Given the description of an element on the screen output the (x, y) to click on. 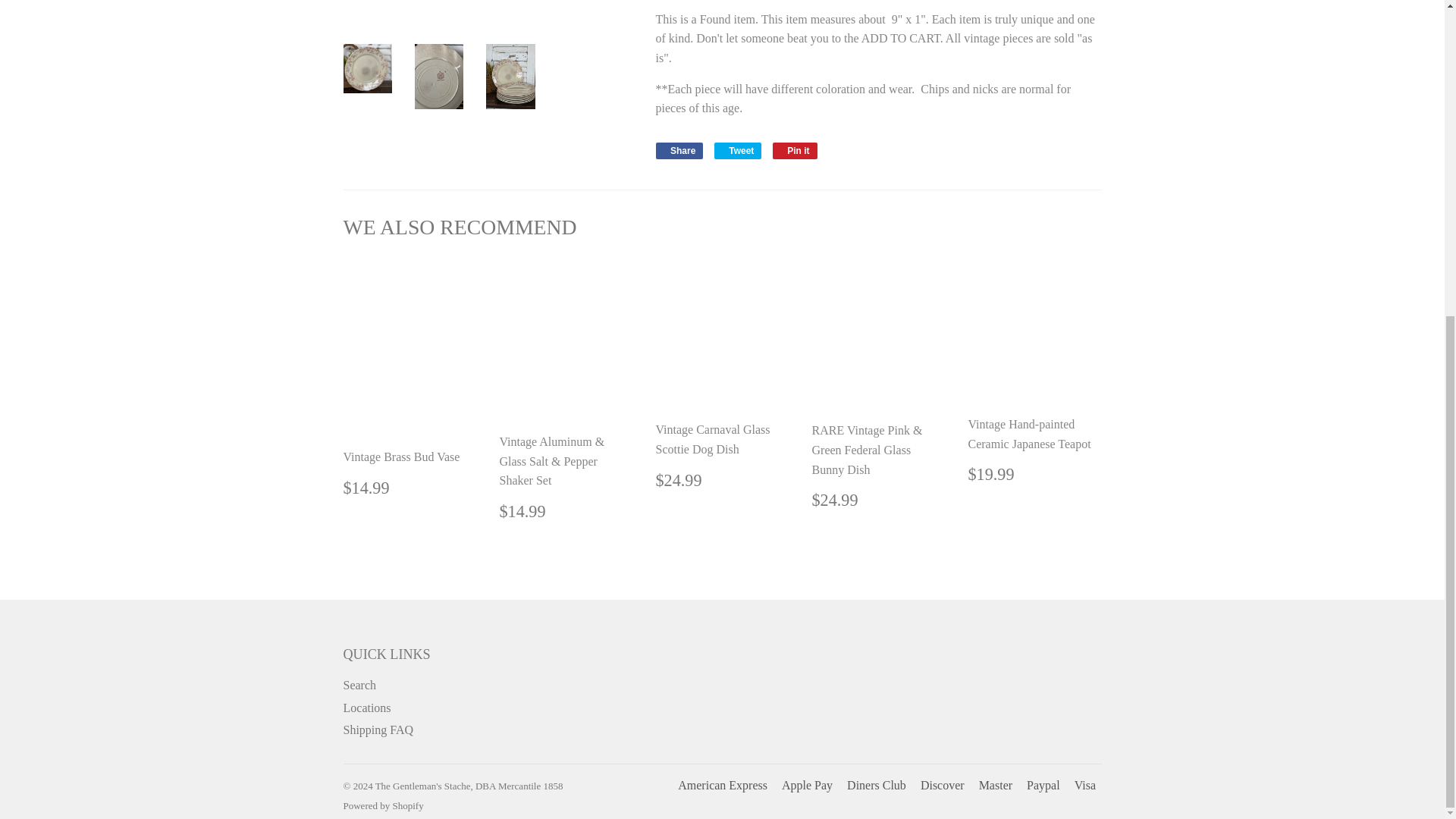
Tweet on Twitter (737, 150)
Pin on Pinterest (794, 150)
Share on Facebook (679, 150)
